Given the description of an element on the screen output the (x, y) to click on. 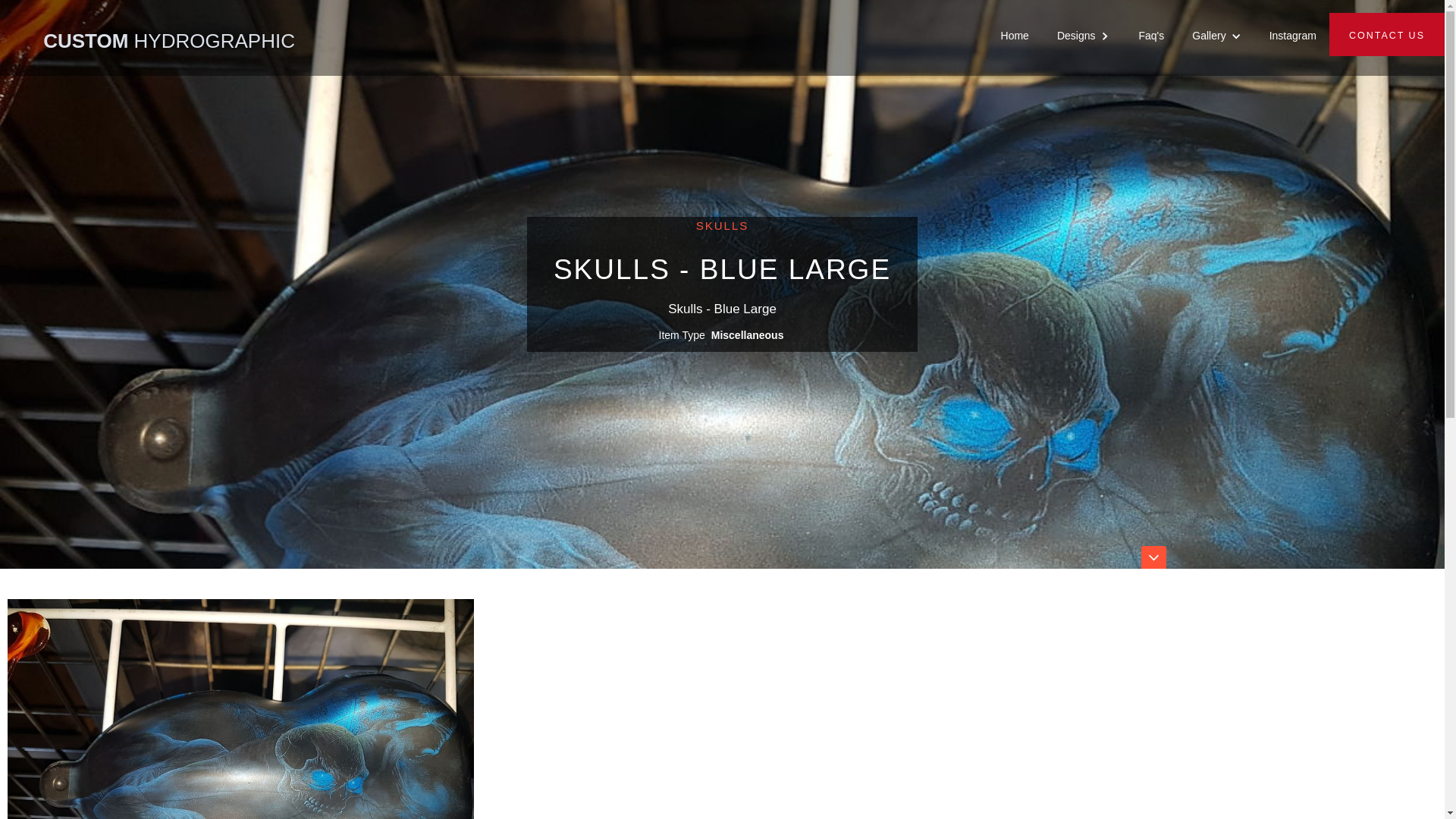
Instagram Element type: text (1292, 34)
CONTACT US Element type: text (1386, 34)
Miscellaneous Element type: text (747, 335)
SKULLS Element type: text (722, 225)
Faq's Element type: text (1150, 34)
Home Element type: text (1014, 34)
CUSTOM HYDROGRAPHIC  Element type: text (156, 21)
